Given the description of an element on the screen output the (x, y) to click on. 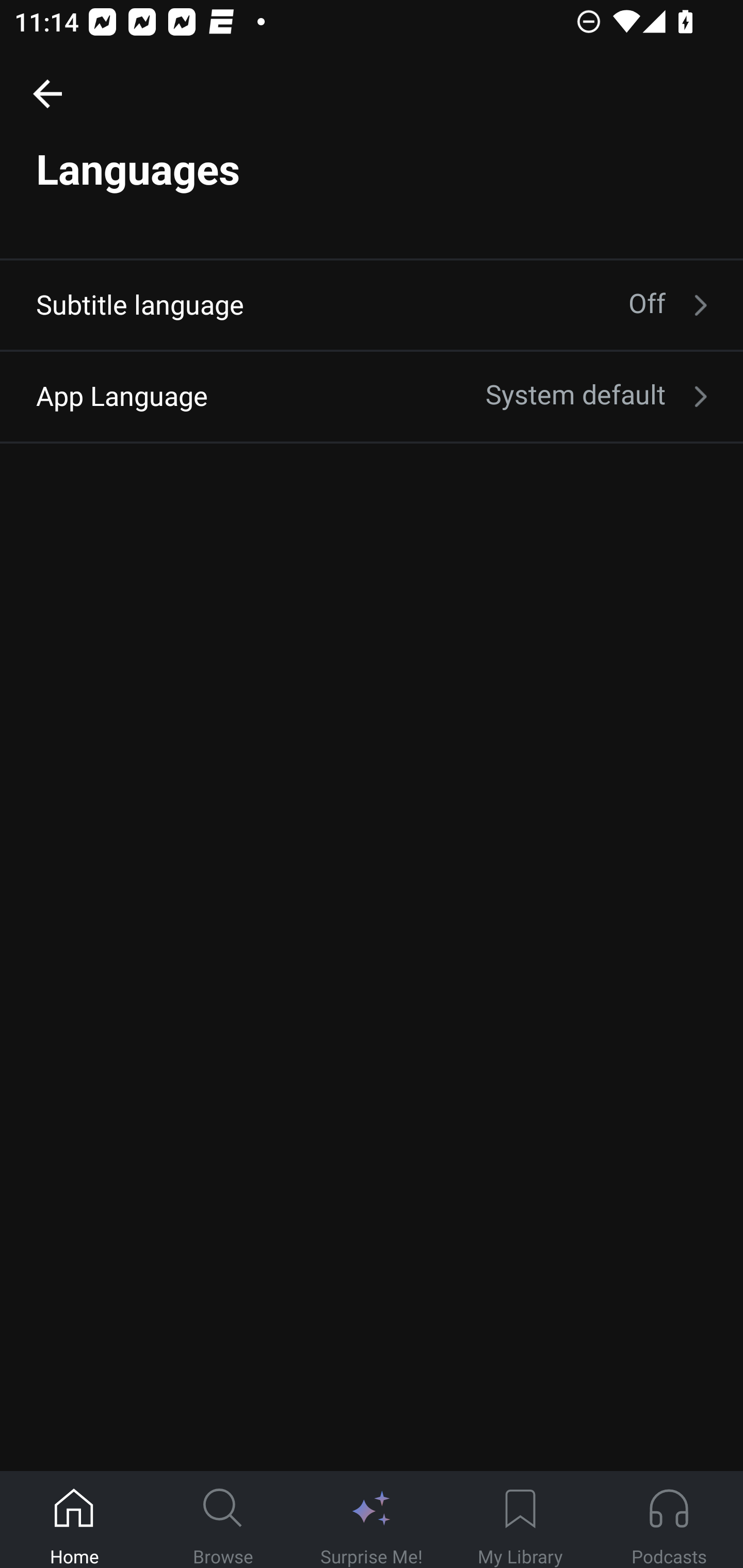
Settings, back (47, 92)
Subtitle language Off (371, 304)
App Language System default (371, 396)
Home (74, 1520)
Browse (222, 1520)
Surprise Me! (371, 1520)
My Library (519, 1520)
Podcasts (668, 1520)
